Given the description of an element on the screen output the (x, y) to click on. 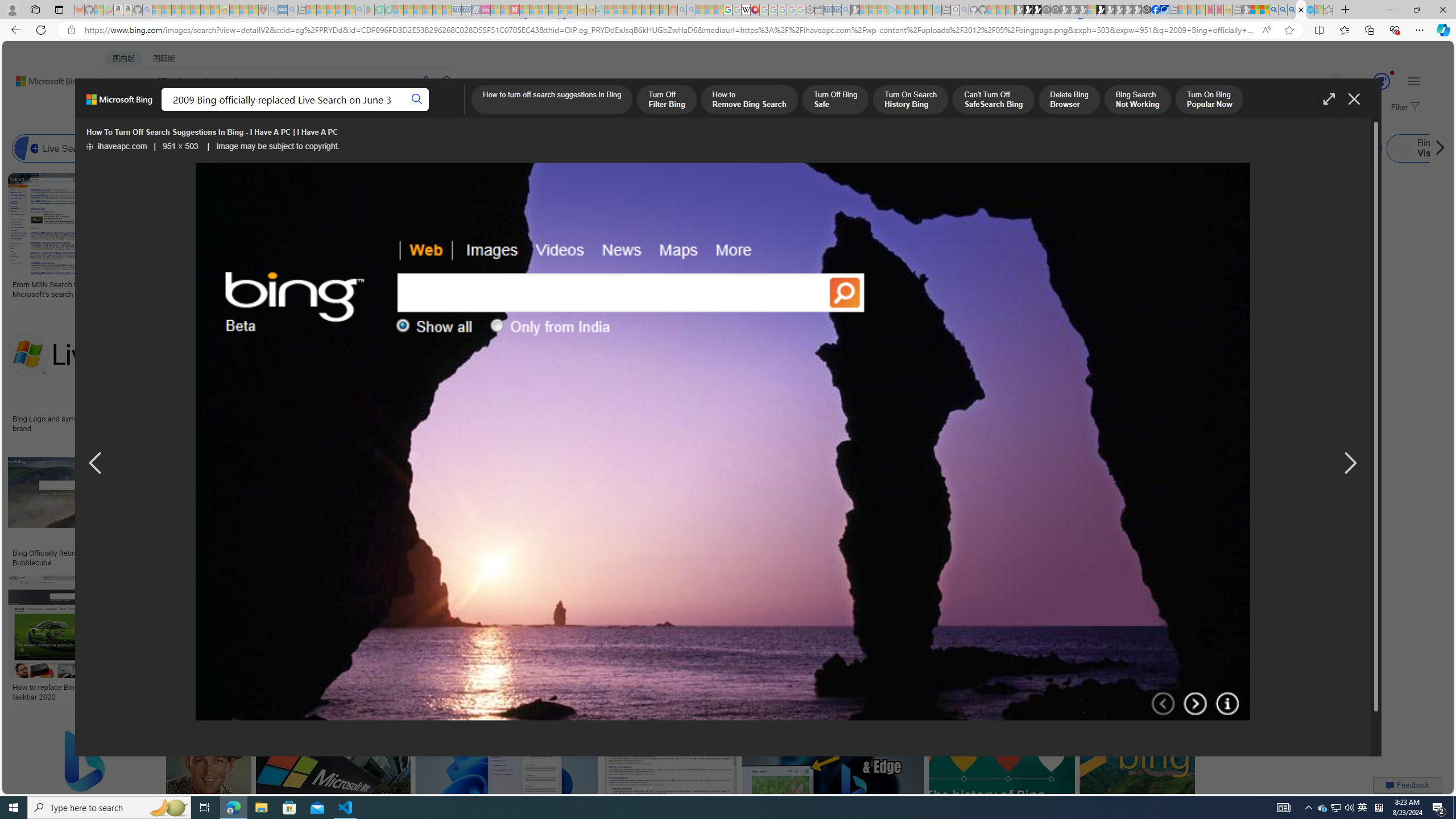
Feedback (1407, 785)
ACADEMIC (360, 111)
Microsoft Bing Search | Enfew (1162, 423)
Search button (417, 99)
AutomationID: serp_medal_svg (1381, 81)
Settings and quick links (1413, 80)
MY BING (156, 111)
Can't Turn Off SafeSearch Bing (993, 100)
